Given the description of an element on the screen output the (x, y) to click on. 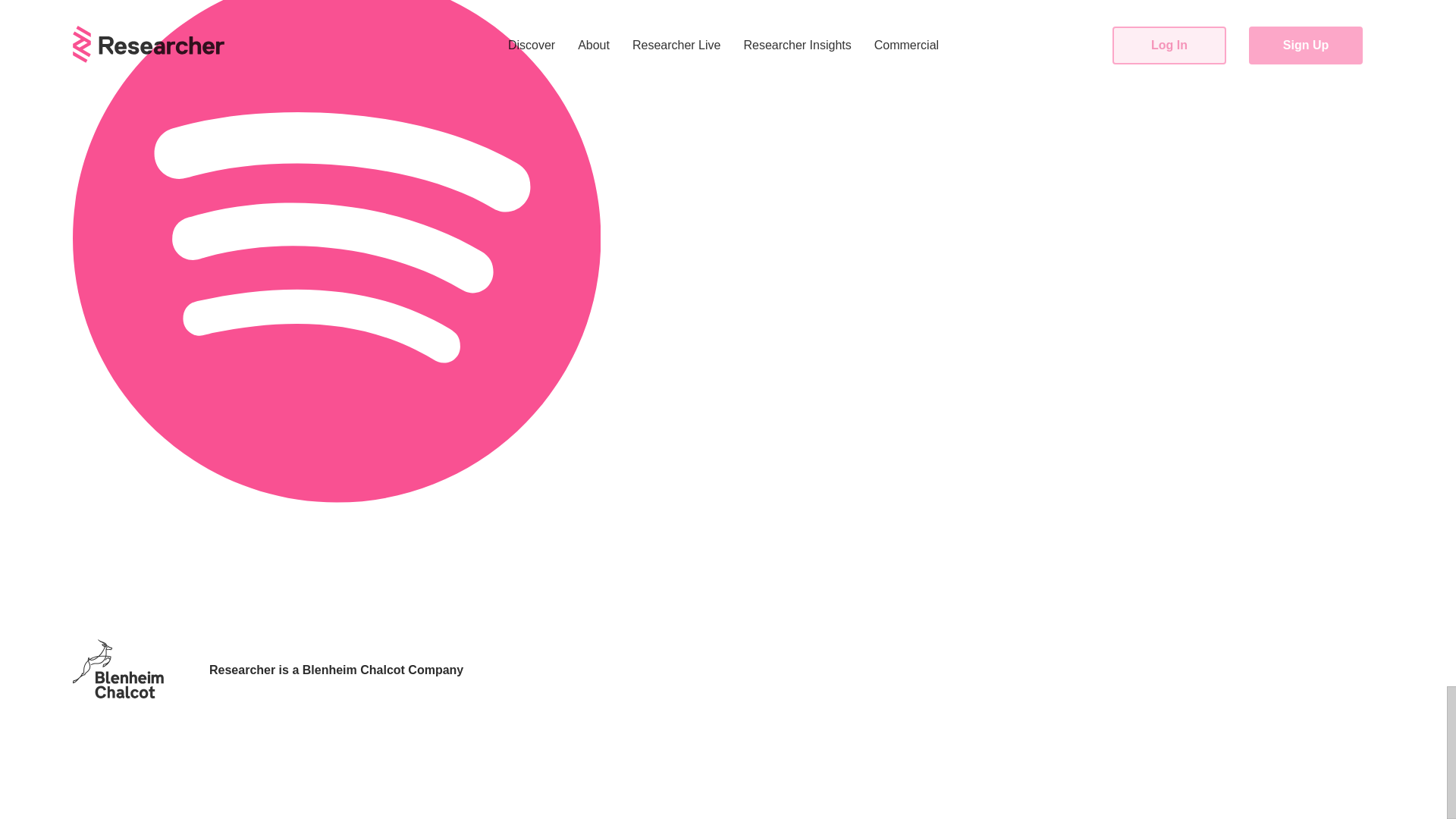
Researcher (242, 669)
Blenheim Chalcot (353, 669)
